Given the description of an element on the screen output the (x, y) to click on. 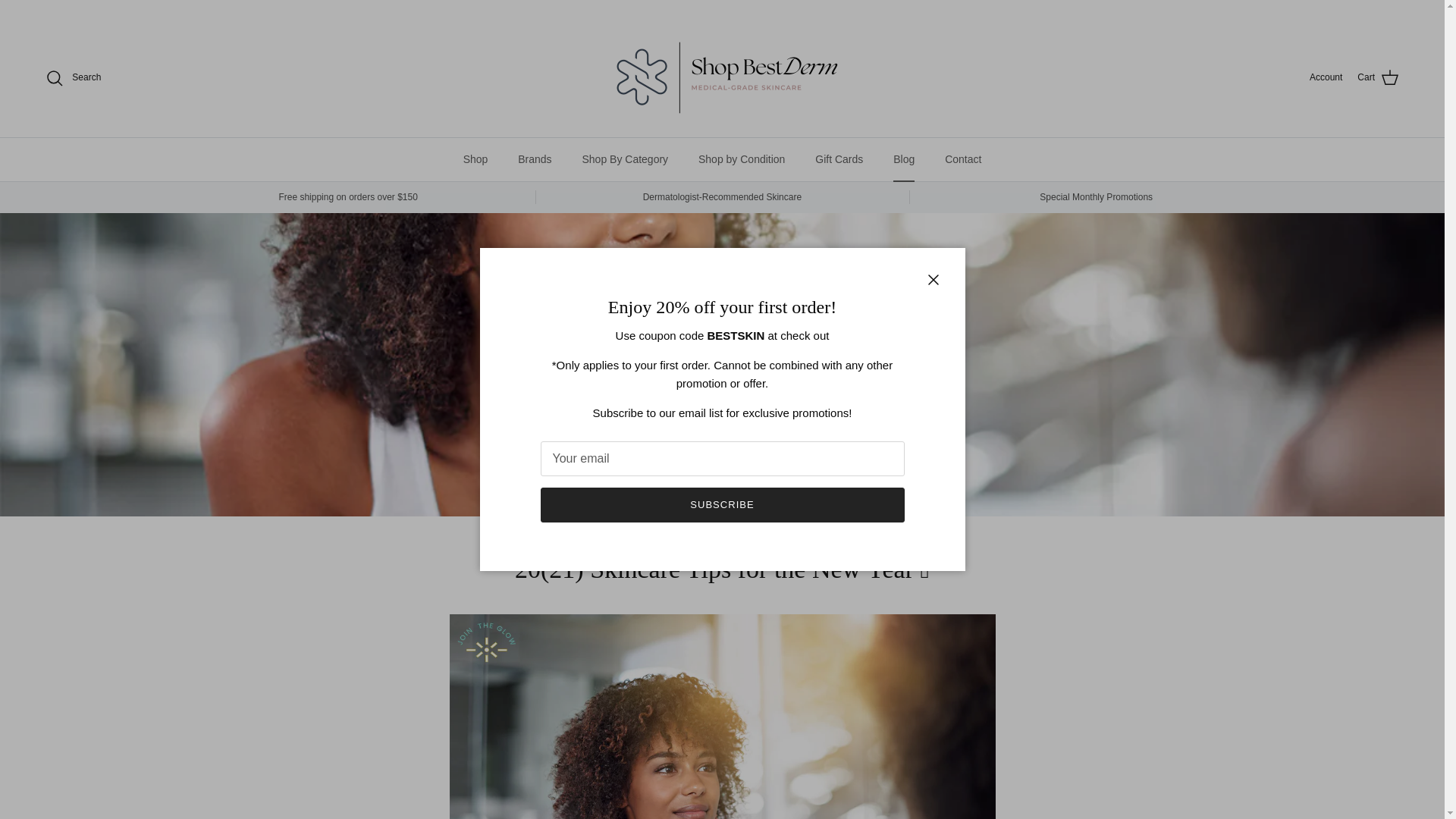
Account (1325, 77)
Brands (533, 159)
Search (72, 76)
Shop BestDerm (721, 77)
Shop By Category (624, 159)
Shop by Condition (740, 159)
Cart (1377, 77)
Shop (475, 159)
